Given the description of an element on the screen output the (x, y) to click on. 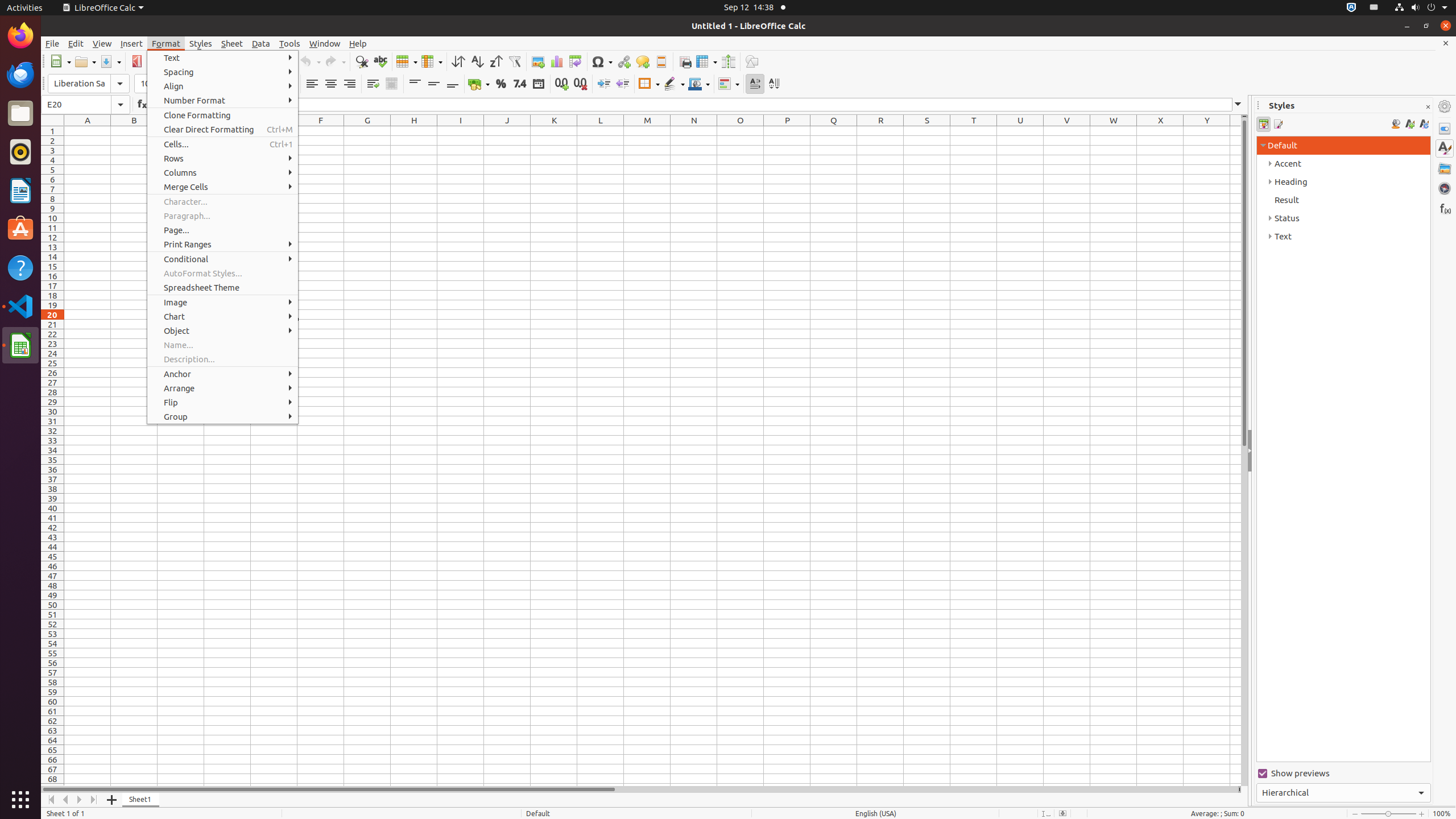
Print Ranges Element type: menu (222, 244)
T1 Element type: table-cell (973, 130)
Anchor Element type: menu (222, 373)
Border Style Element type: push-button (673, 83)
Name... Element type: menu-item (222, 344)
